Given the description of an element on the screen output the (x, y) to click on. 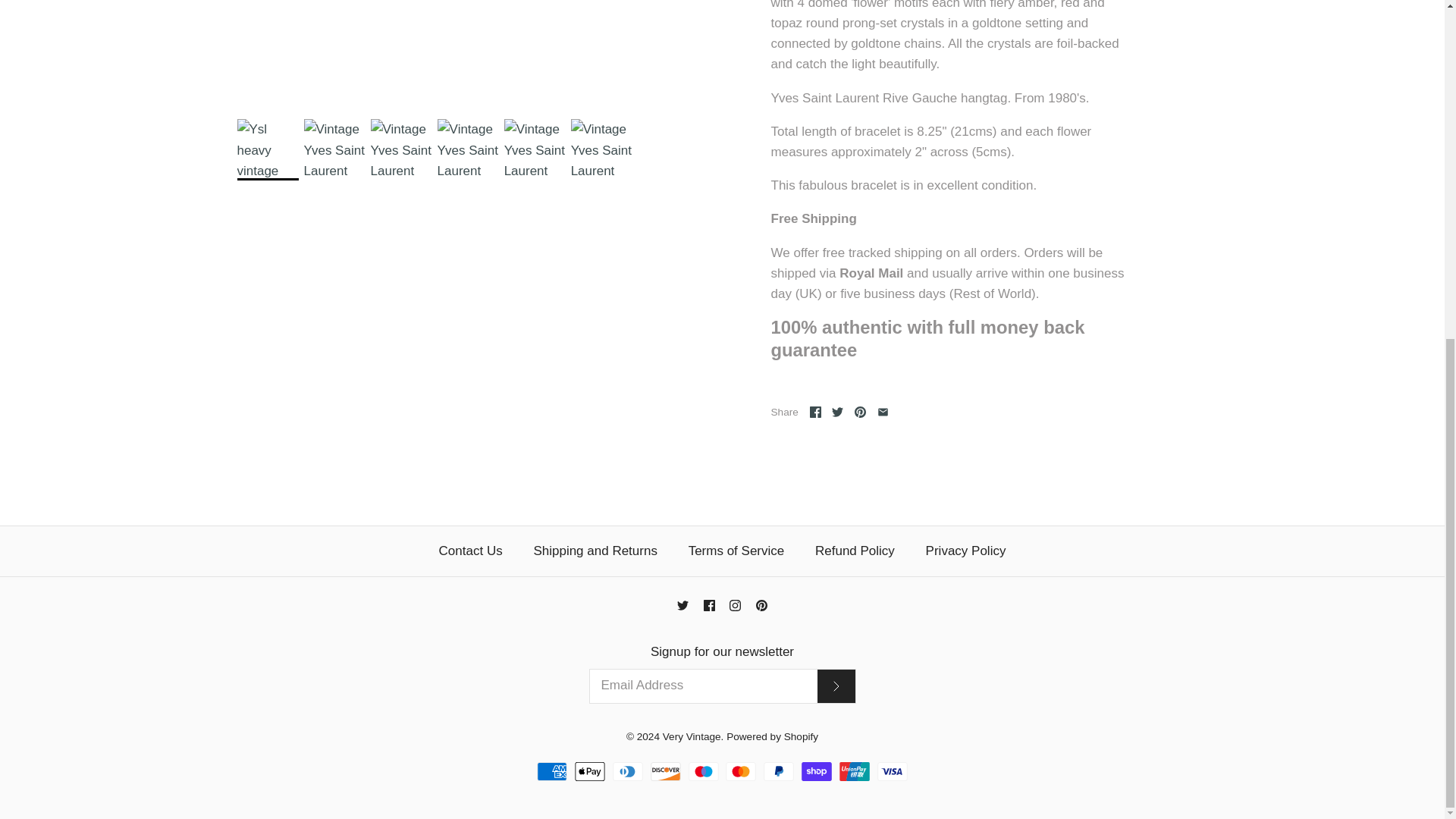
Email (882, 411)
Facebook (815, 411)
Vintage Yves Saint Laurent YSL Crystal Bracelet (534, 149)
Ysl heavy vintage crystal bracelet (266, 149)
Apple Pay (590, 771)
Pinterest (860, 411)
Vintage Yves Saint Laurent YSL Crystal Bracelet (600, 149)
Twitter (682, 604)
Discover (665, 771)
PayPal (777, 771)
Vintage Yves Saint Laurent YSL Crystal Bracelet (401, 149)
Share on Twitter (837, 411)
Twitter (837, 411)
Vintage Yves Saint Laurent YSL Crystal Bracelet (468, 149)
Maestro (703, 771)
